Given the description of an element on the screen output the (x, y) to click on. 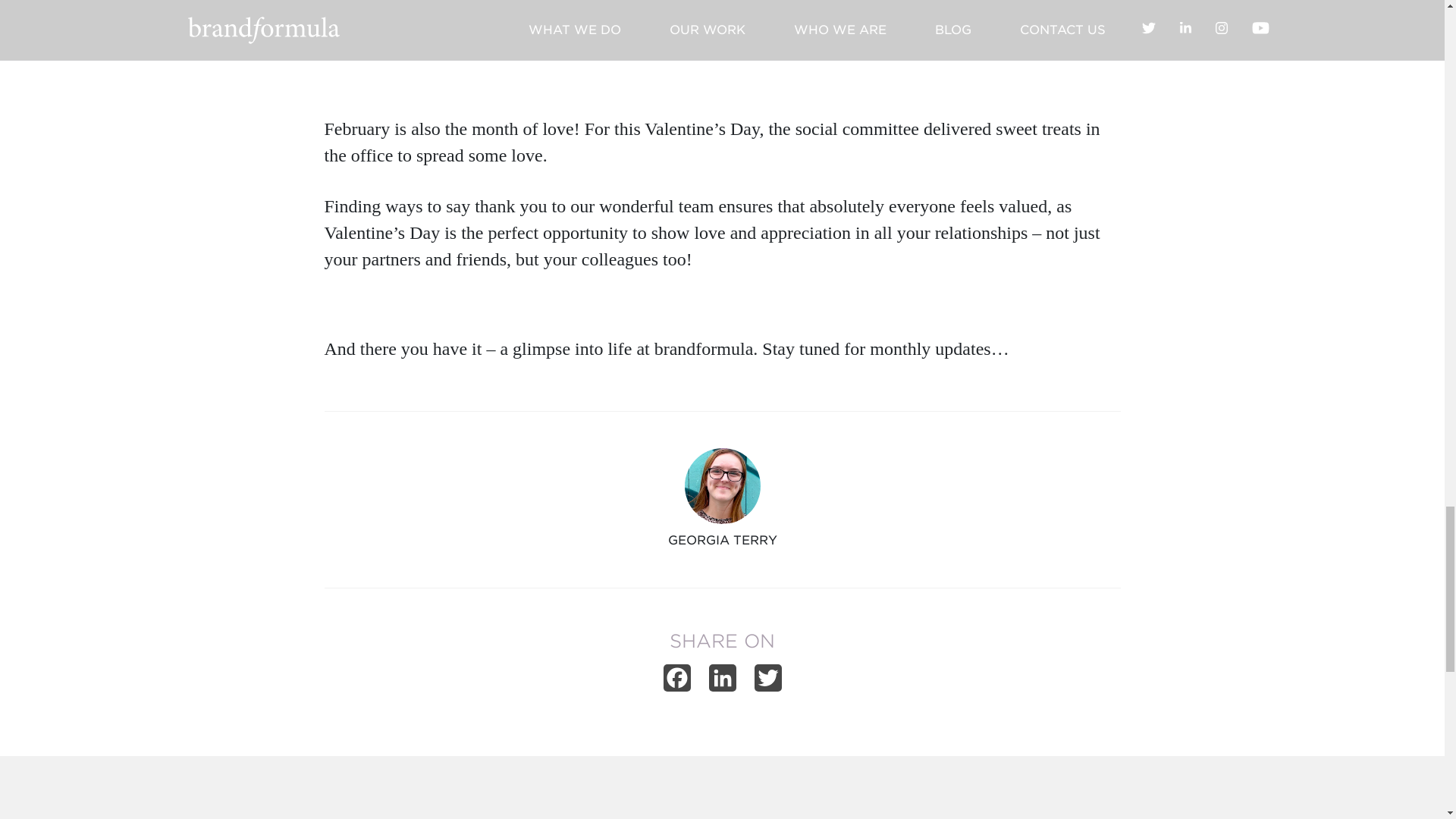
Facebook (676, 682)
LinkedIn (721, 682)
Facebook (676, 682)
Twitter (767, 682)
Twitter (767, 682)
LinkedIn (721, 682)
